Given the description of an element on the screen output the (x, y) to click on. 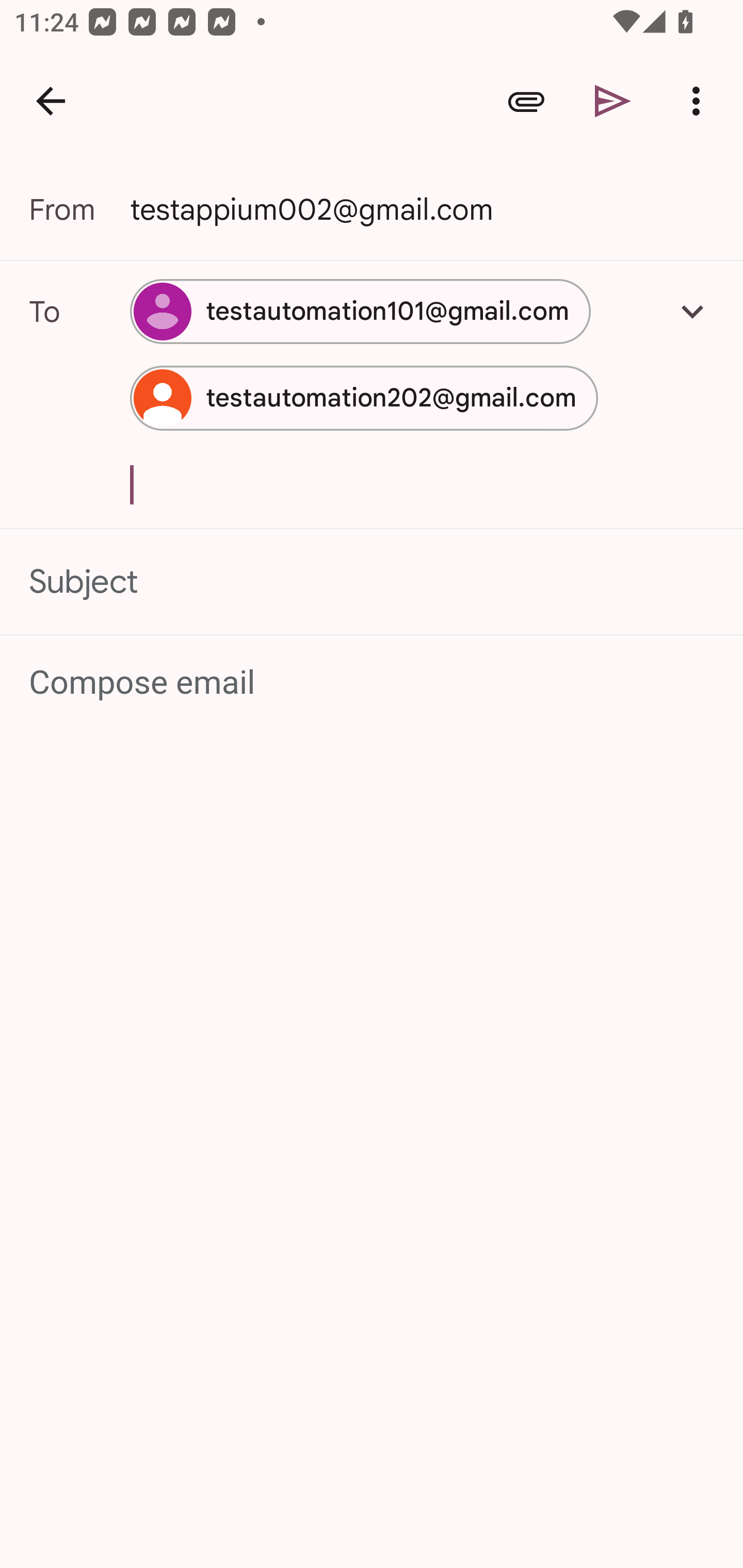
Navigate up (50, 101)
Attach file (525, 101)
Send (612, 101)
More options (699, 101)
From (79, 209)
Add Cc/Bcc (692, 311)
Subject (371, 582)
Compose email (372, 683)
